Given the description of an element on the screen output the (x, y) to click on. 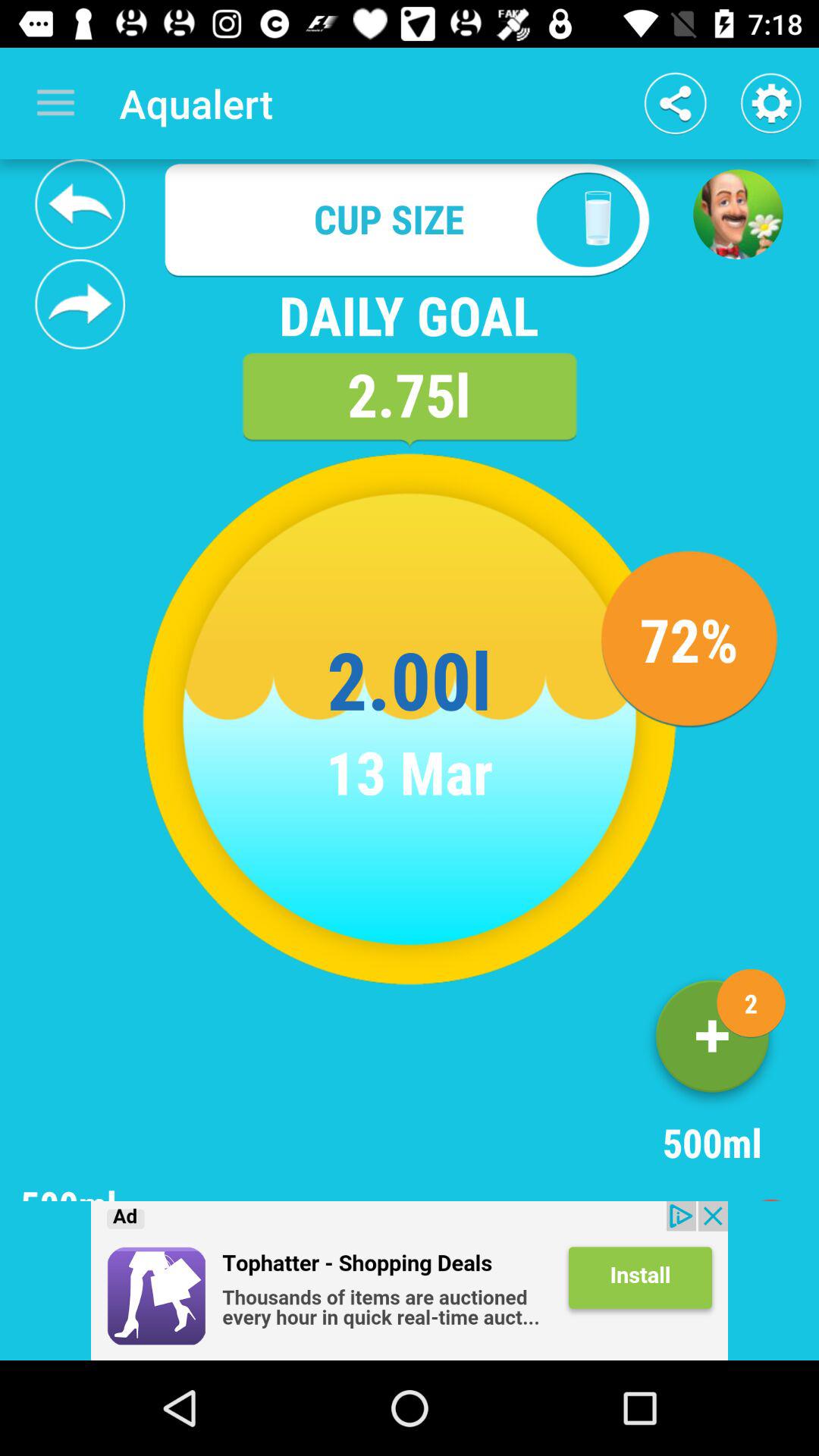
back button (80, 204)
